Given the description of an element on the screen output the (x, y) to click on. 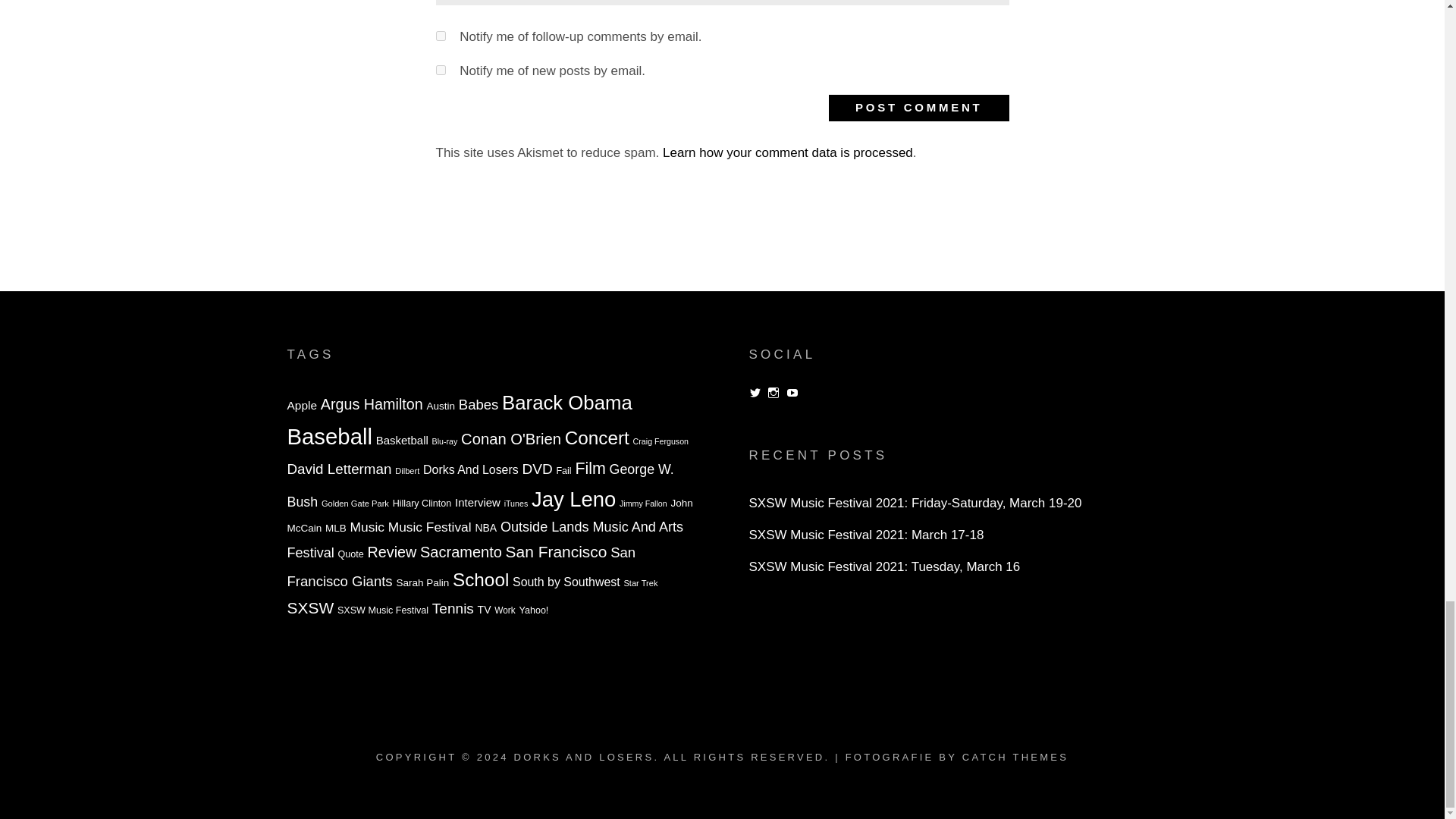
Post Comment (918, 108)
Post Comment (918, 108)
subscribe (440, 35)
subscribe (440, 70)
